Given the description of an element on the screen output the (x, y) to click on. 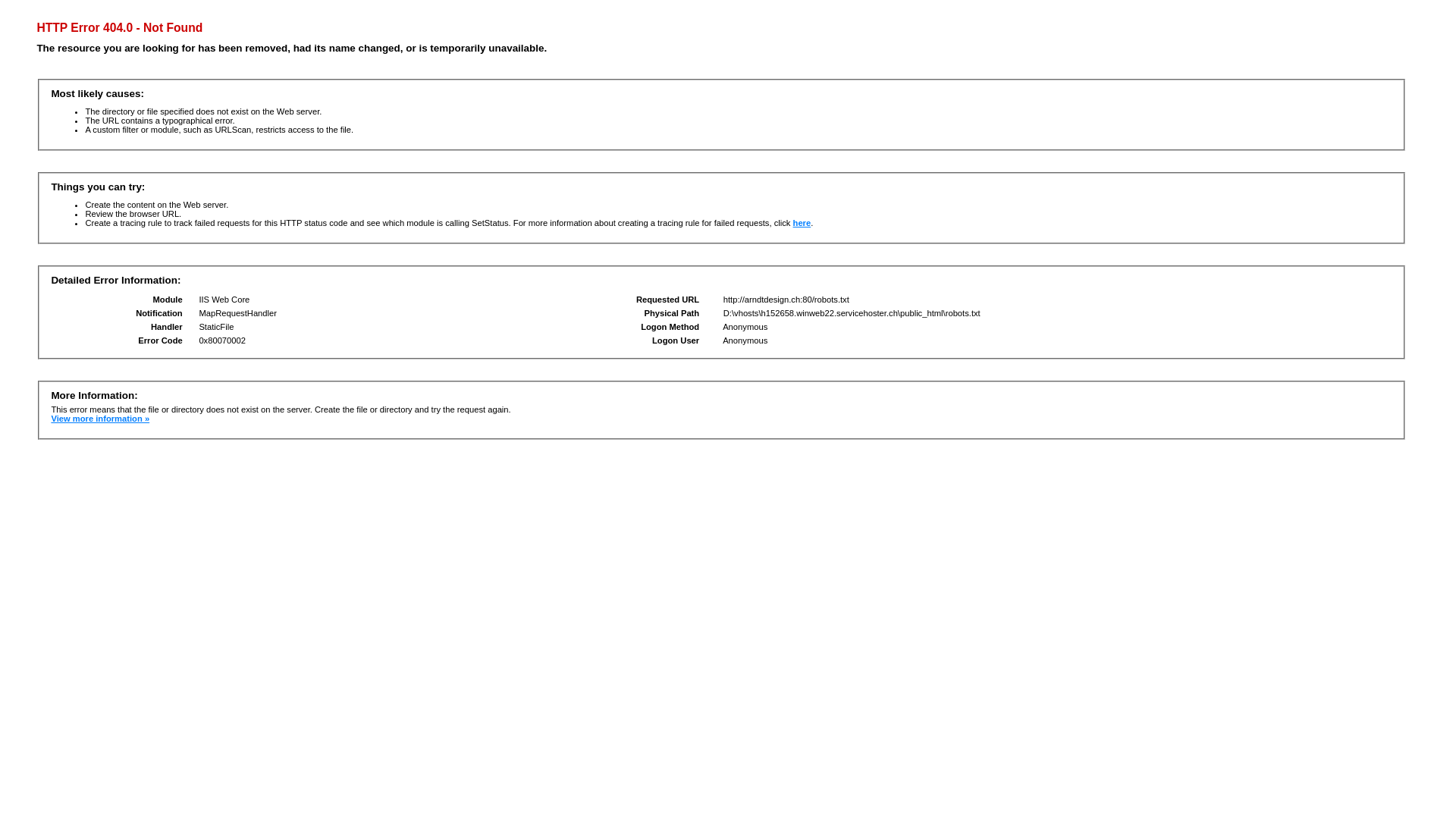
here Element type: text (802, 222)
